Given the description of an element on the screen output the (x, y) to click on. 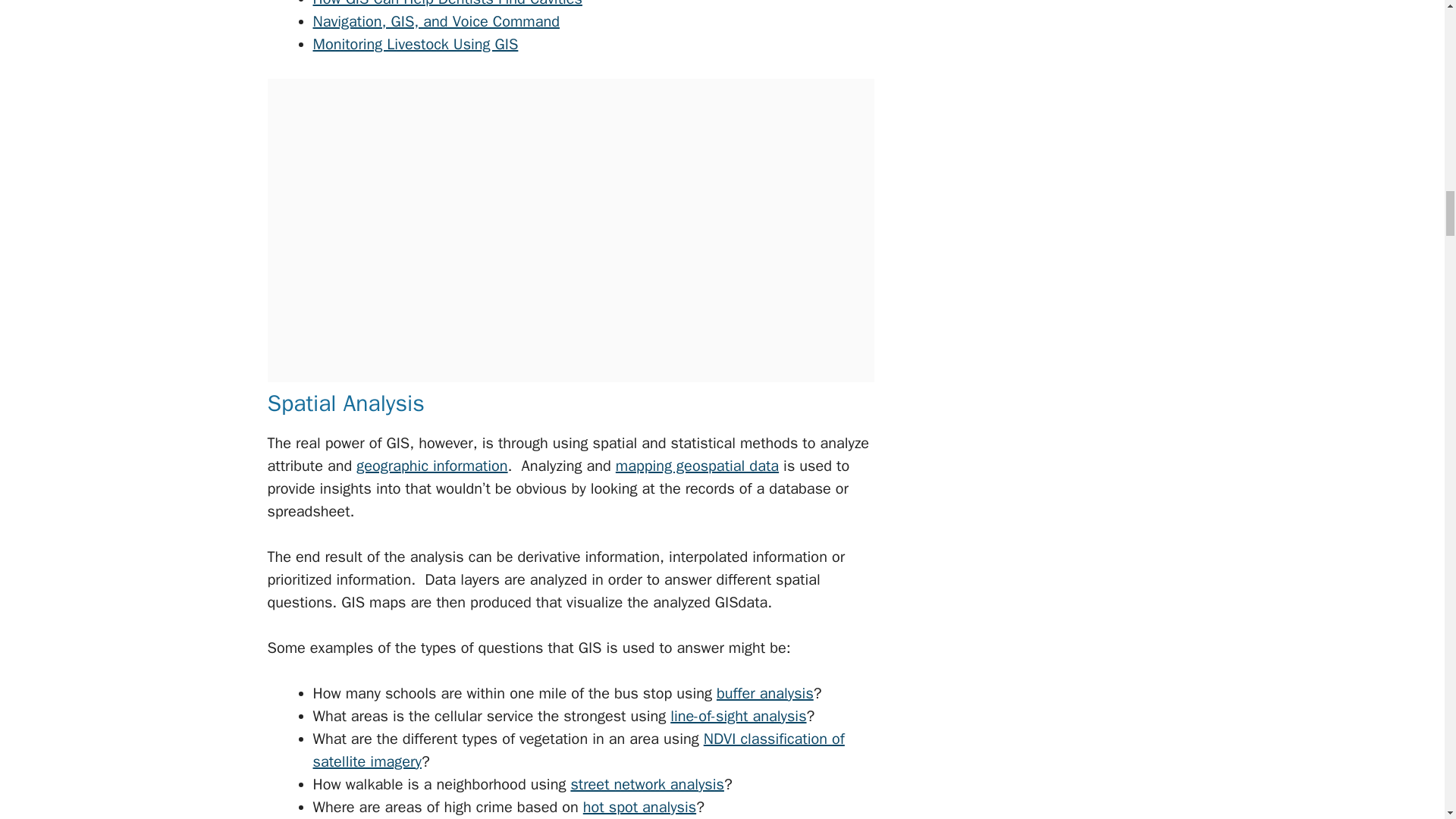
How GIS Can Help Dentists Find Cavities (446, 4)
Navigation, GIS, and Voice Command (436, 21)
